Given the description of an element on the screen output the (x, y) to click on. 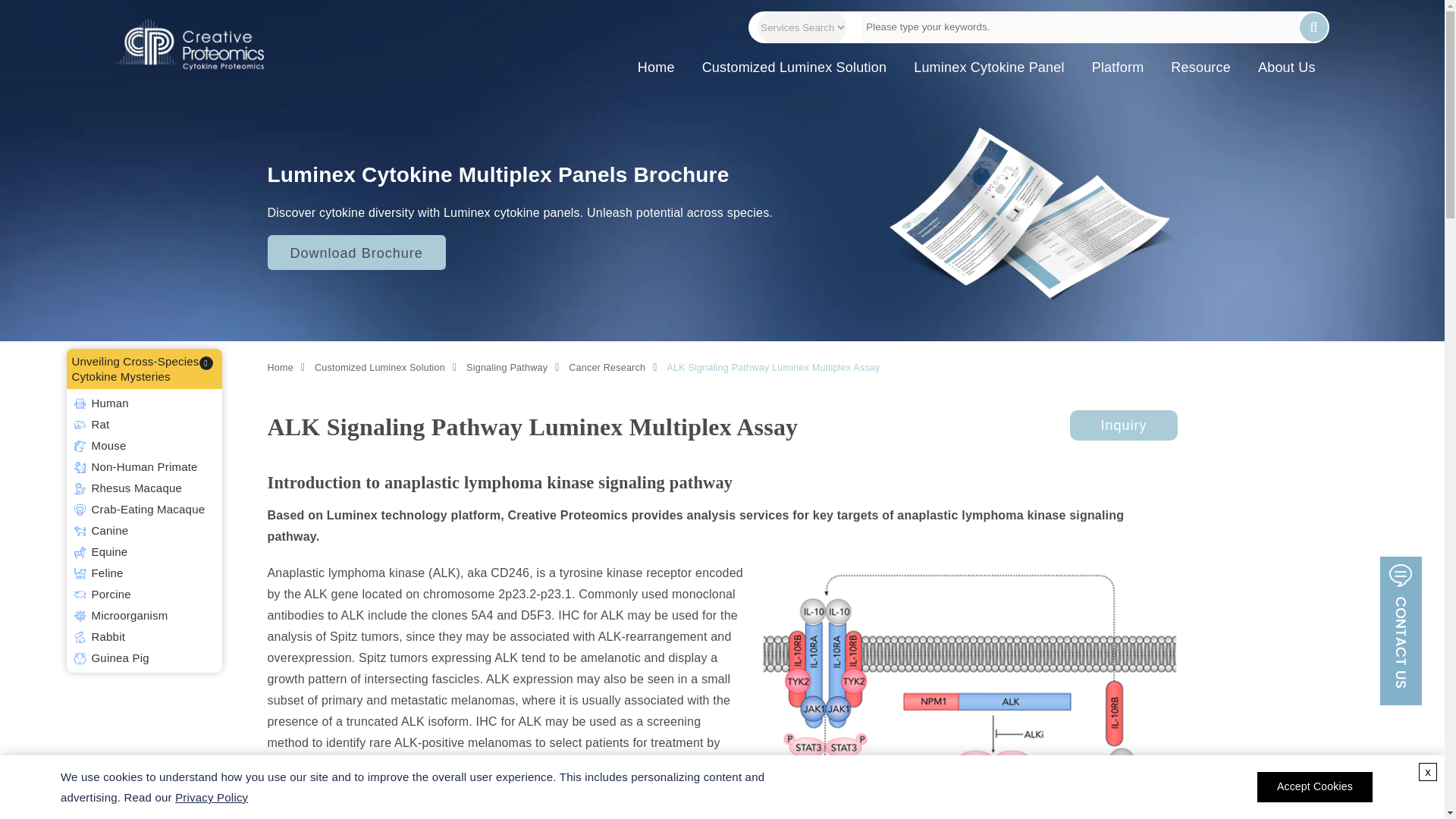
Customized Luminex Solution (794, 67)
Home (656, 67)
